Given the description of an element on the screen output the (x, y) to click on. 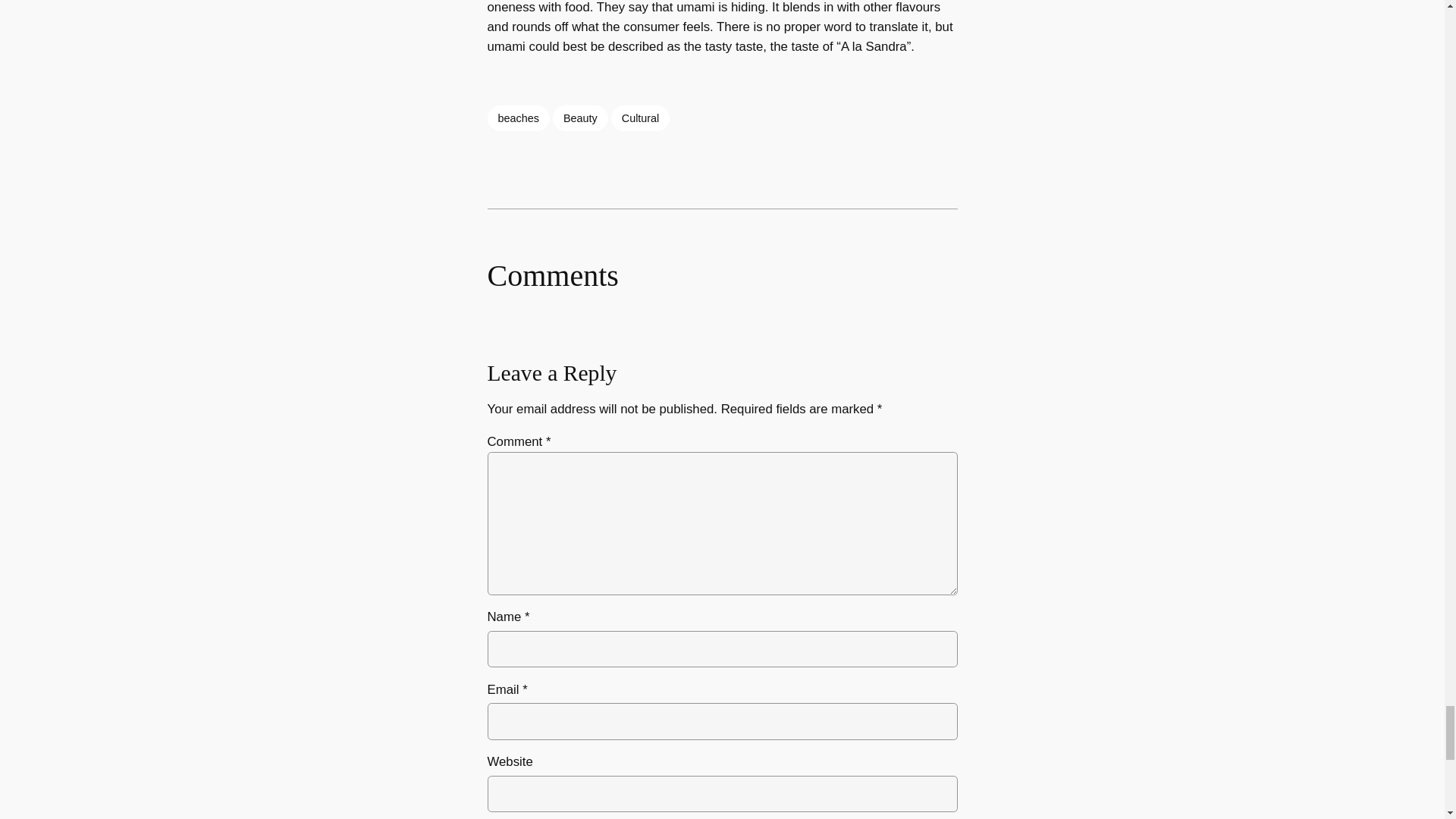
Cultural (640, 118)
Beauty (580, 118)
beaches (517, 118)
